Given the description of an element on the screen output the (x, y) to click on. 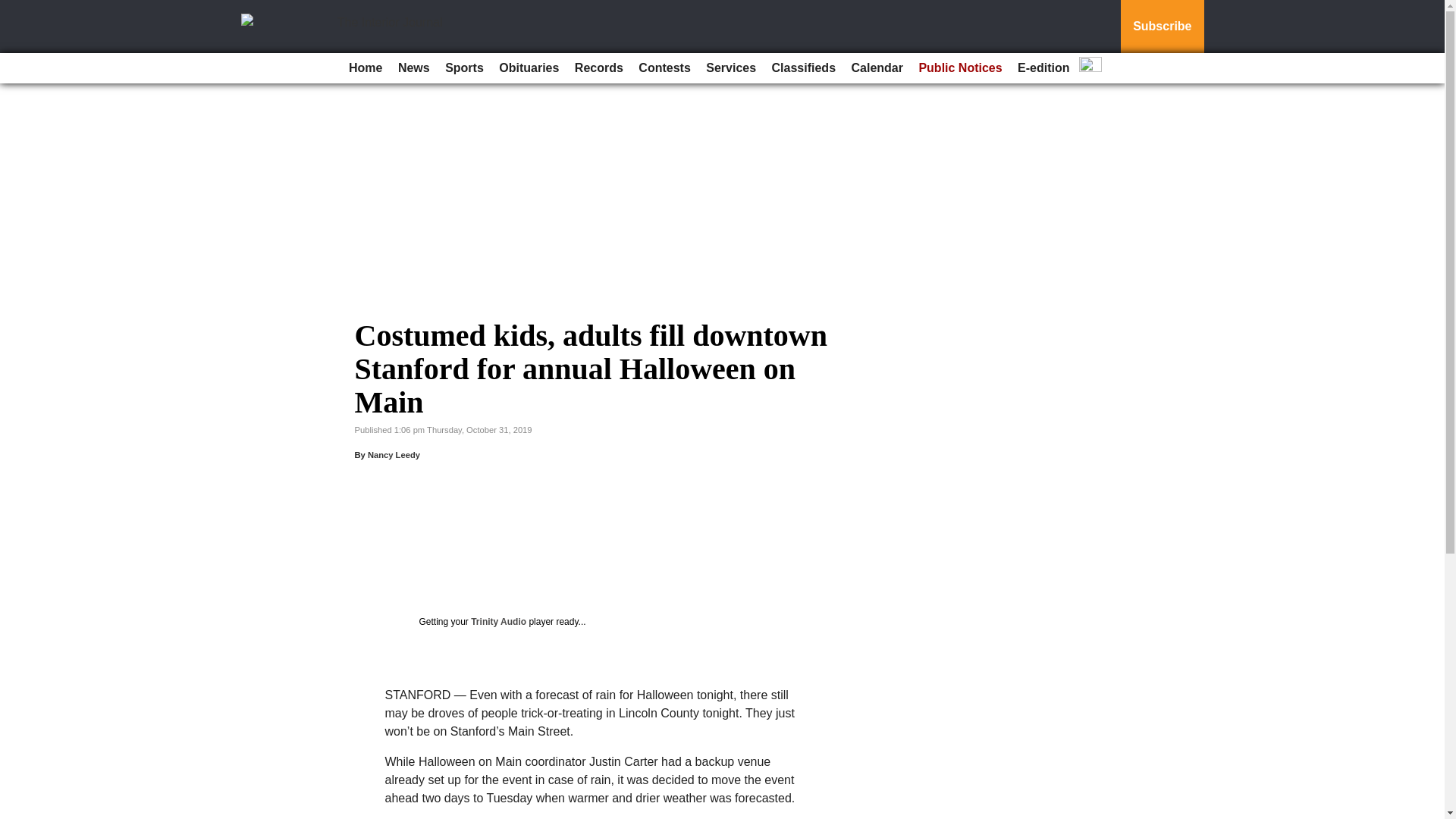
Services (730, 68)
Calendar (876, 68)
Sports (464, 68)
Obituaries (528, 68)
Contests (663, 68)
News (413, 68)
E-edition (1043, 68)
Classifieds (803, 68)
Public Notices (959, 68)
Records (598, 68)
